Given the description of an element on the screen output the (x, y) to click on. 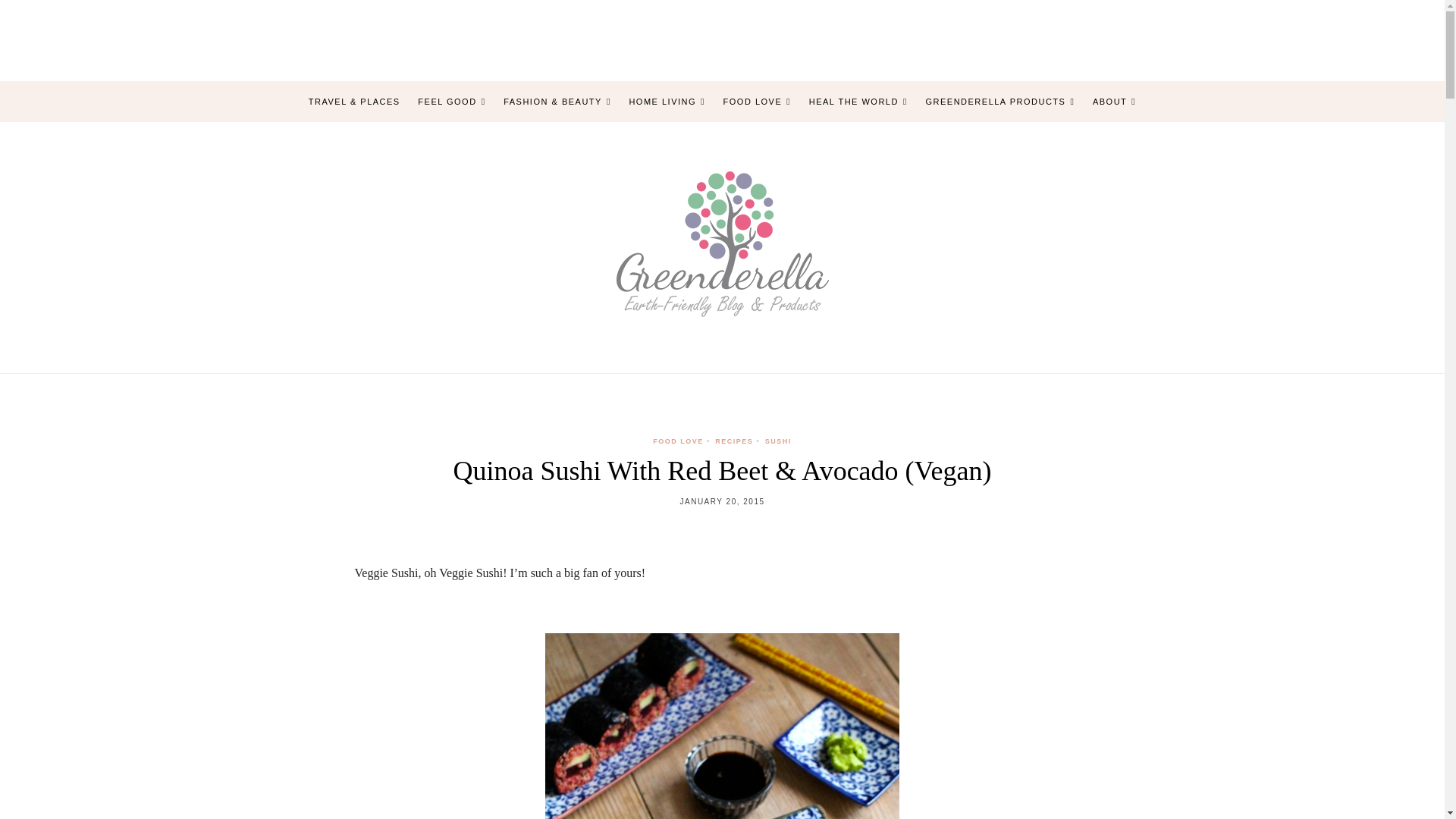
FOOD LOVE (757, 101)
HOME LIVING (666, 101)
FEEL GOOD (450, 101)
